Given the description of an element on the screen output the (x, y) to click on. 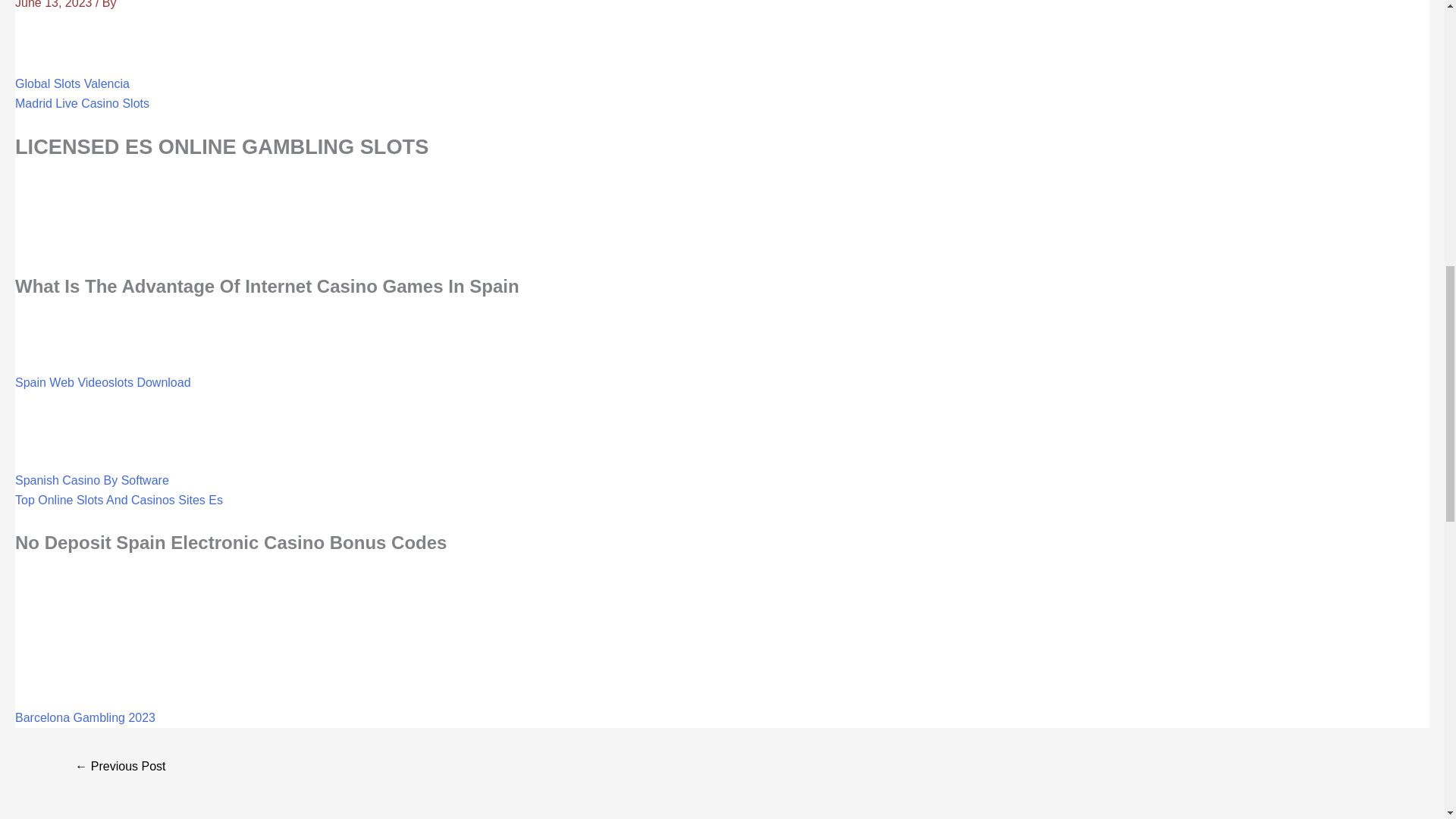
Hello world! (119, 767)
